Given the description of an element on the screen output the (x, y) to click on. 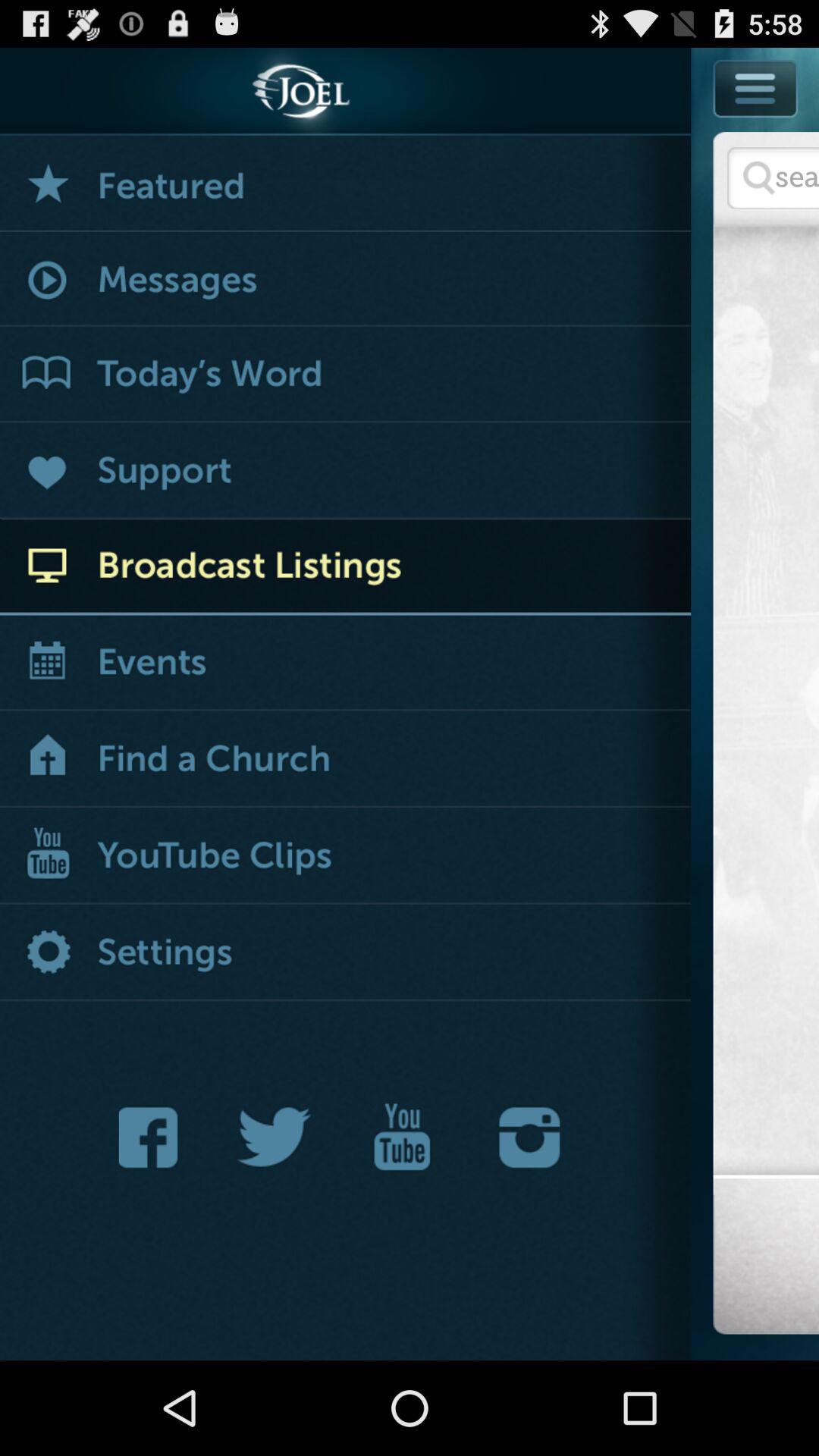
access youtube clips (345, 856)
